Given the description of an element on the screen output the (x, y) to click on. 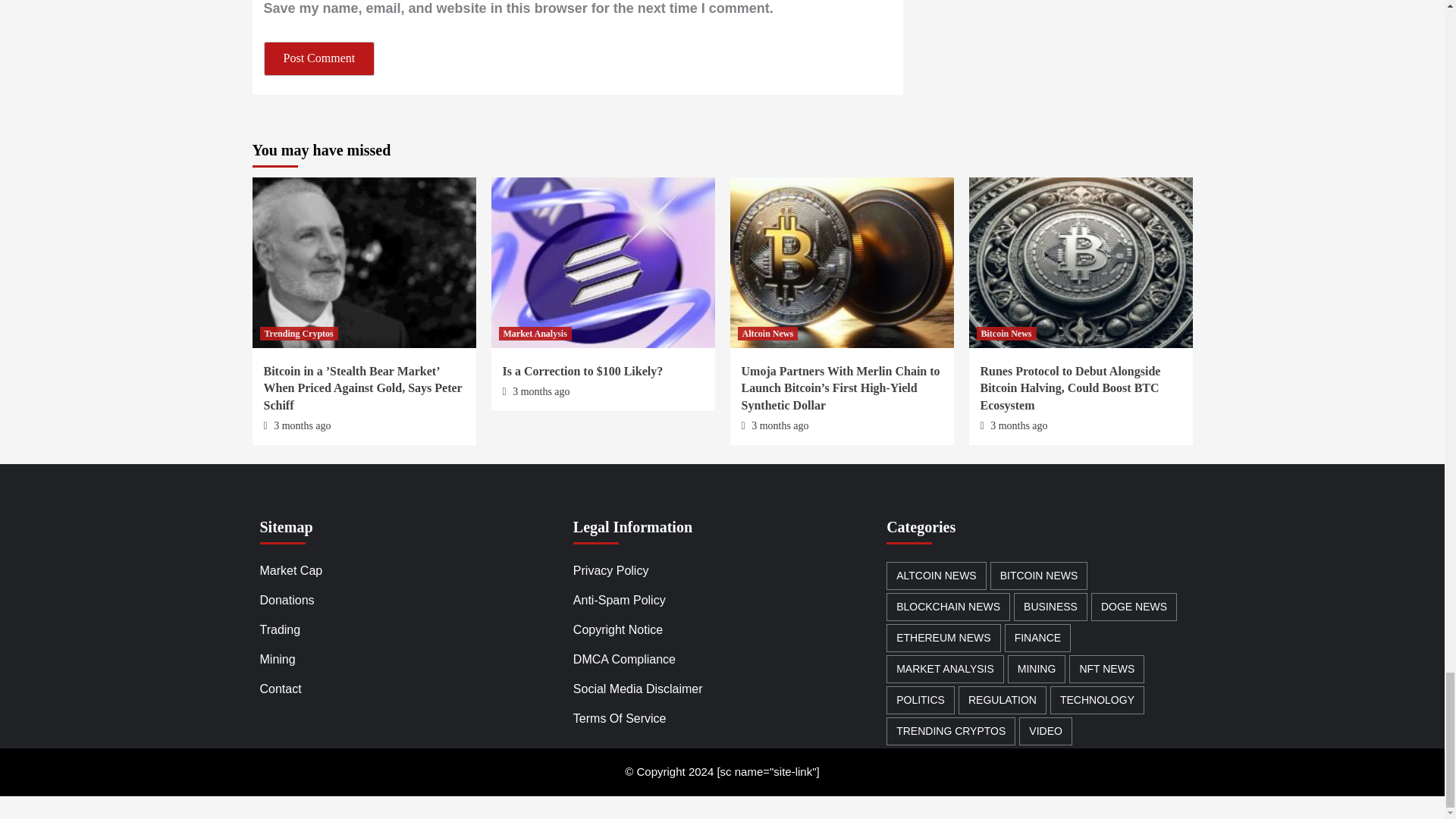
Post Comment (319, 58)
